Given the description of an element on the screen output the (x, y) to click on. 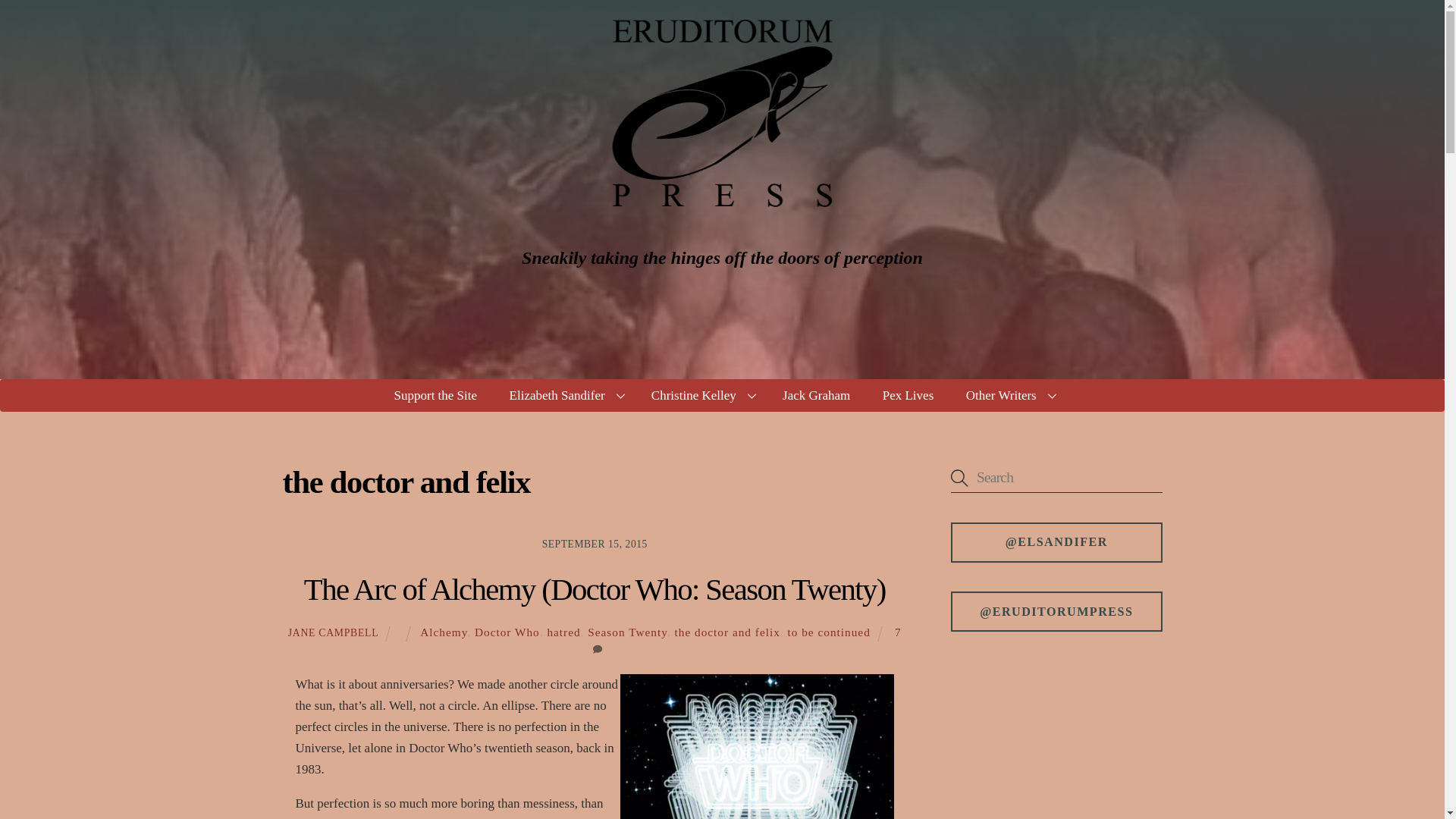
Christine Kelley (700, 395)
Alchemy (443, 631)
Support the Site (435, 395)
to be continued (828, 631)
Pex Lives (907, 395)
Elizabeth Sandifer (563, 395)
Other Writers (1008, 395)
Jack Graham (816, 395)
Season Twenty (627, 631)
hatred (563, 631)
Search (1055, 477)
JANE CAMPBELL (333, 632)
the doctor and felix (726, 631)
Doctor Who (507, 631)
